Given the description of an element on the screen output the (x, y) to click on. 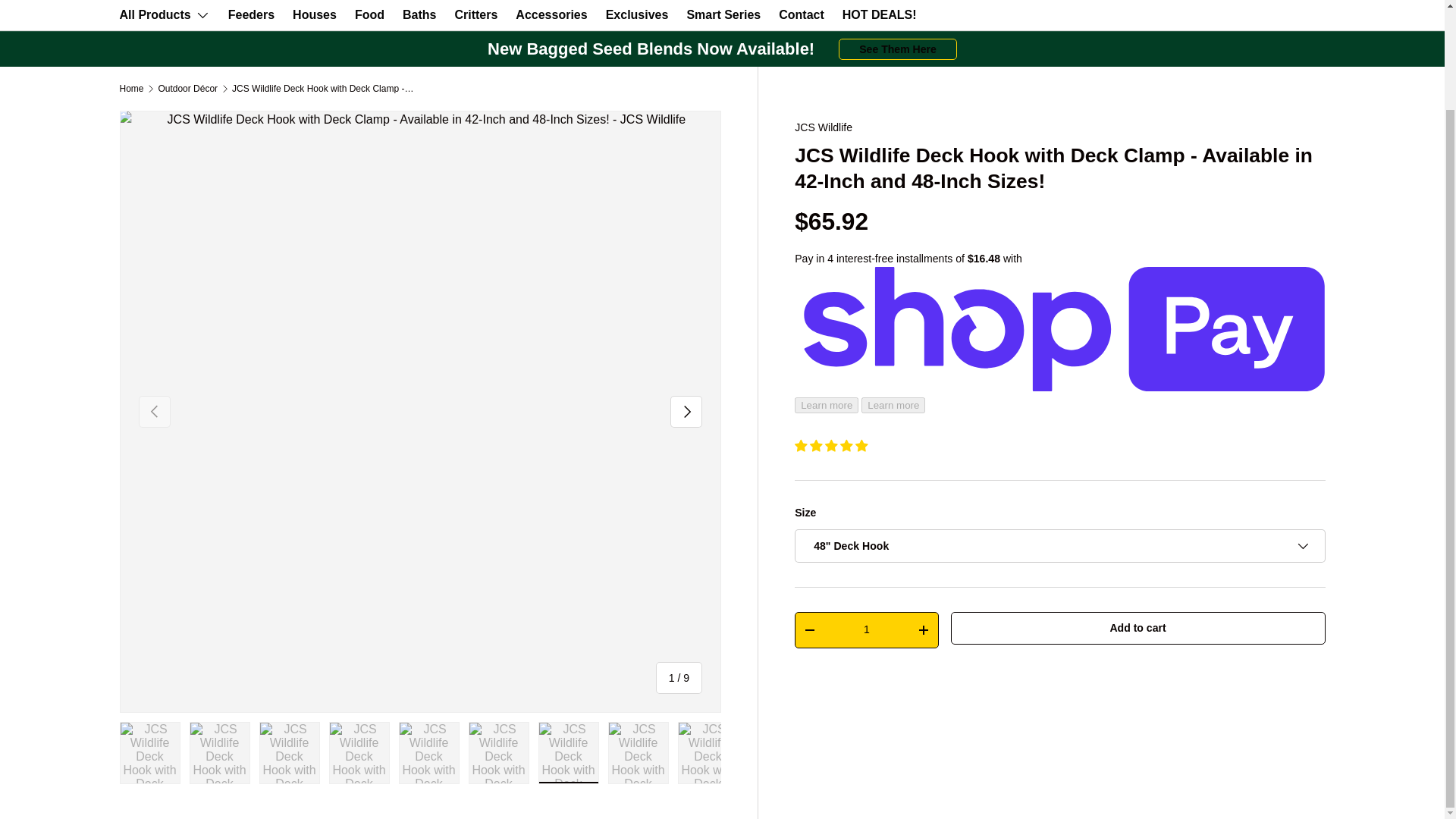
Baths (419, 14)
Houses (314, 14)
Feeders (251, 14)
Home (131, 88)
1 (866, 629)
See Them Here (897, 49)
Food (369, 14)
All Products (164, 15)
Contact (801, 14)
HOT DEALS! (880, 14)
Accessories (550, 14)
Exclusives (636, 14)
Critters (475, 14)
Smart Series (722, 14)
